Given the description of an element on the screen output the (x, y) to click on. 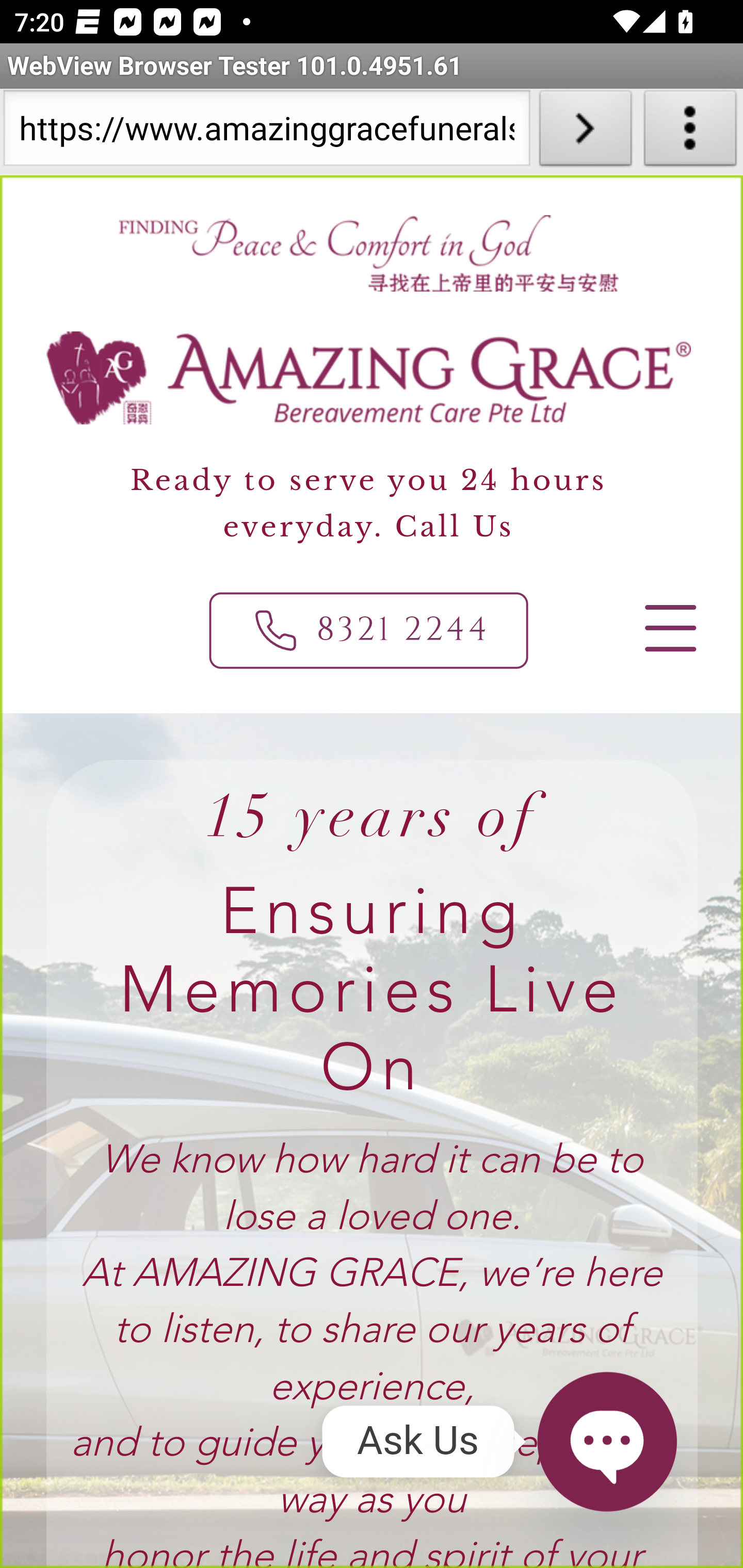
Load URL (585, 132)
About WebView (690, 132)
AG_H5 Finding God_edited.png (366, 253)
AG_H1 Logo Name_edited.png (369, 377)
Open navigation menu (669, 627)
8321 2244 (368, 630)
WhatsApp (606, 1440)
